Given the description of an element on the screen output the (x, y) to click on. 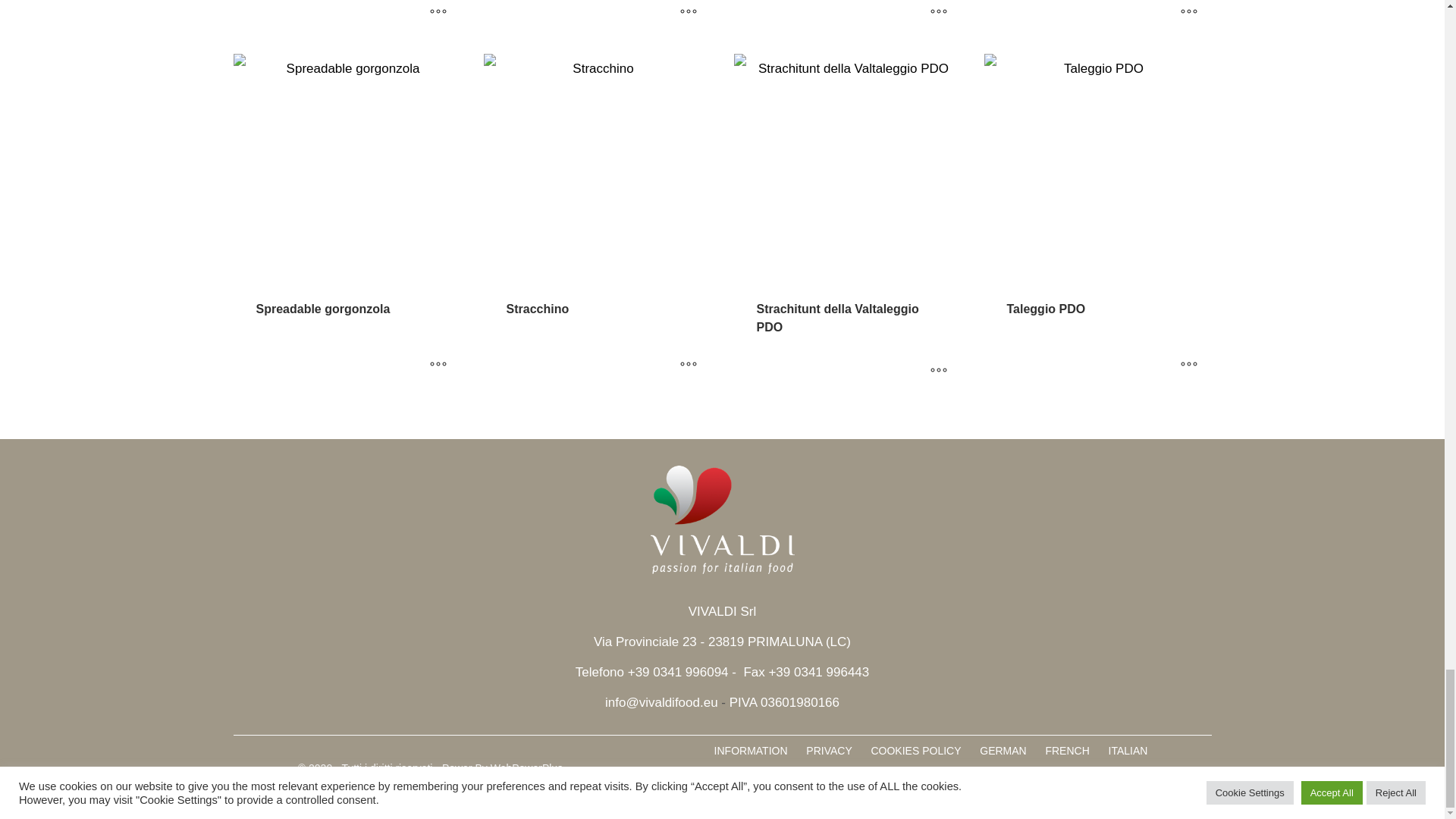
INFORMATION PRIVACY COOKIES POLICY GERMAN FRENCH ITALIAN (930, 750)
